Given the description of an element on the screen output the (x, y) to click on. 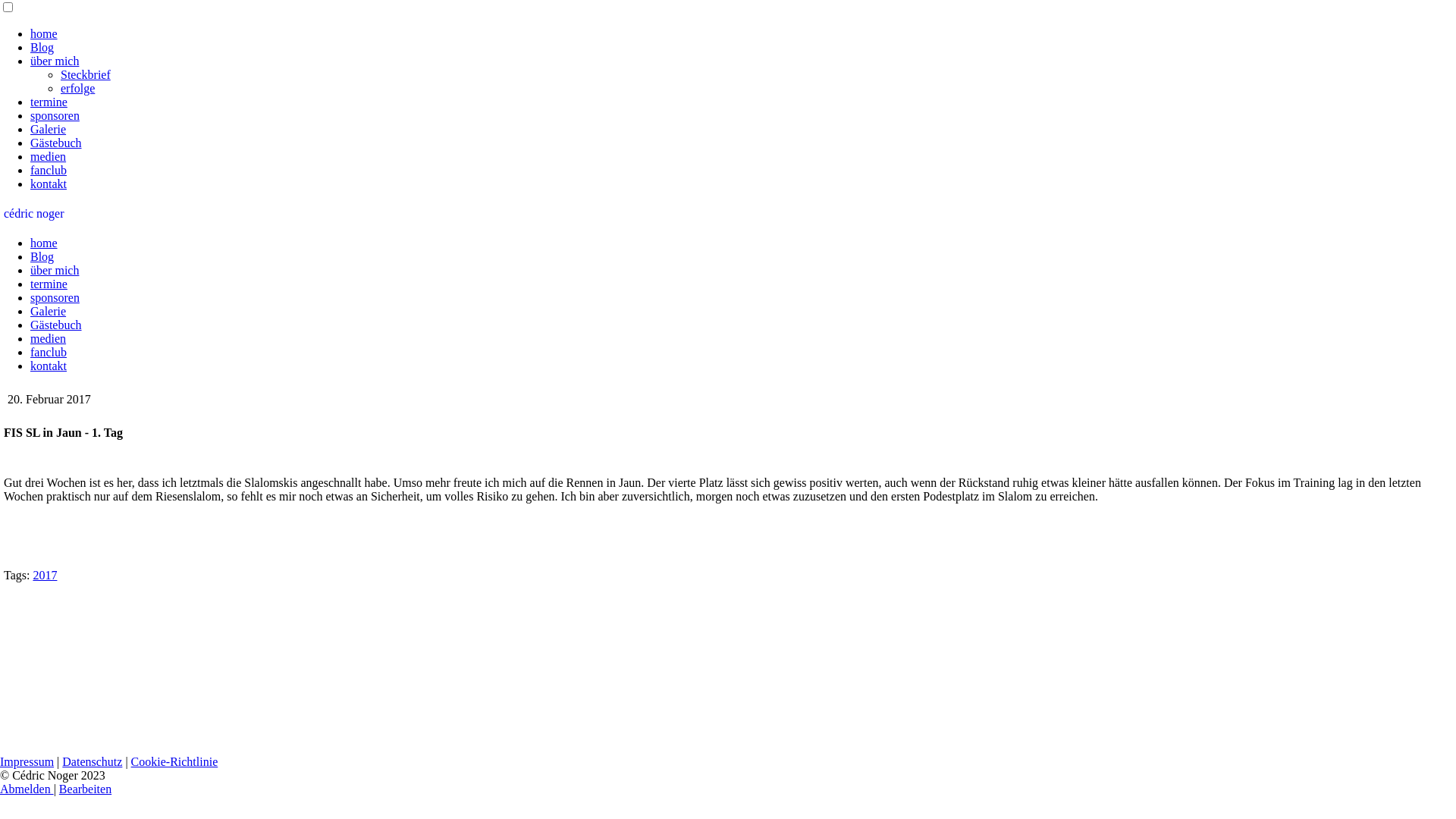
termine Element type: text (48, 283)
sponsoren Element type: text (54, 115)
Cookie-Richtlinie Element type: text (174, 761)
Galerie Element type: text (47, 128)
Impressum Element type: text (26, 761)
Bearbeiten Element type: text (85, 788)
2017 Element type: text (44, 574)
Abmelden Element type: text (26, 788)
fanclub Element type: text (48, 169)
erfolge Element type: text (77, 87)
home Element type: text (43, 242)
kontakt Element type: text (48, 365)
Blog Element type: text (41, 46)
kontakt Element type: text (48, 183)
fanclub Element type: text (48, 351)
home Element type: text (43, 33)
Galerie Element type: text (47, 310)
Datenschutz Element type: text (92, 761)
termine Element type: text (48, 101)
Steckbrief Element type: text (85, 74)
Blog Element type: text (41, 256)
medien Element type: text (47, 156)
sponsoren Element type: text (54, 297)
medien Element type: text (47, 338)
